Given the description of an element on the screen output the (x, y) to click on. 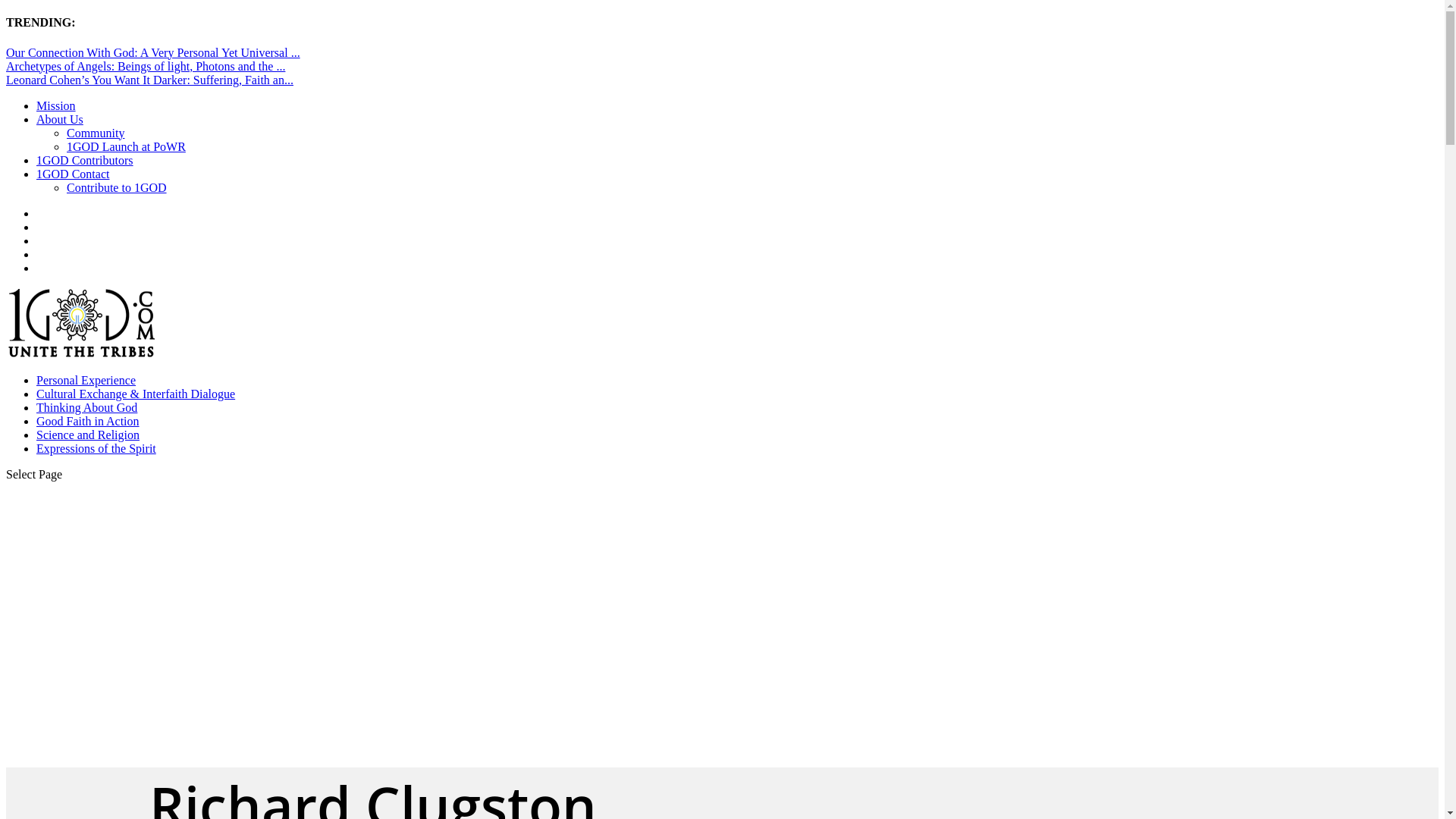
Archetypes of Angels: Beings of light, Photons and the ... Element type: text (145, 65)
Good Faith in Action Element type: text (87, 420)
Personal Experience Element type: text (85, 379)
Our Connection With God: A Very Personal Yet Universal ... Element type: text (153, 52)
Contribute to 1GOD Element type: text (116, 187)
Expressions of the Spirit Element type: text (96, 448)
Cultural Exchange & Interfaith Dialogue Element type: text (135, 393)
Community Element type: text (95, 132)
Science and Religion Element type: text (87, 434)
Thinking About God Element type: text (86, 407)
Mission Element type: text (55, 105)
1GOD Contributors Element type: text (84, 159)
1GOD Launch at PoWR Element type: text (125, 146)
About Us Element type: text (59, 118)
1GOD Contact Element type: text (72, 173)
